Given the description of an element on the screen output the (x, y) to click on. 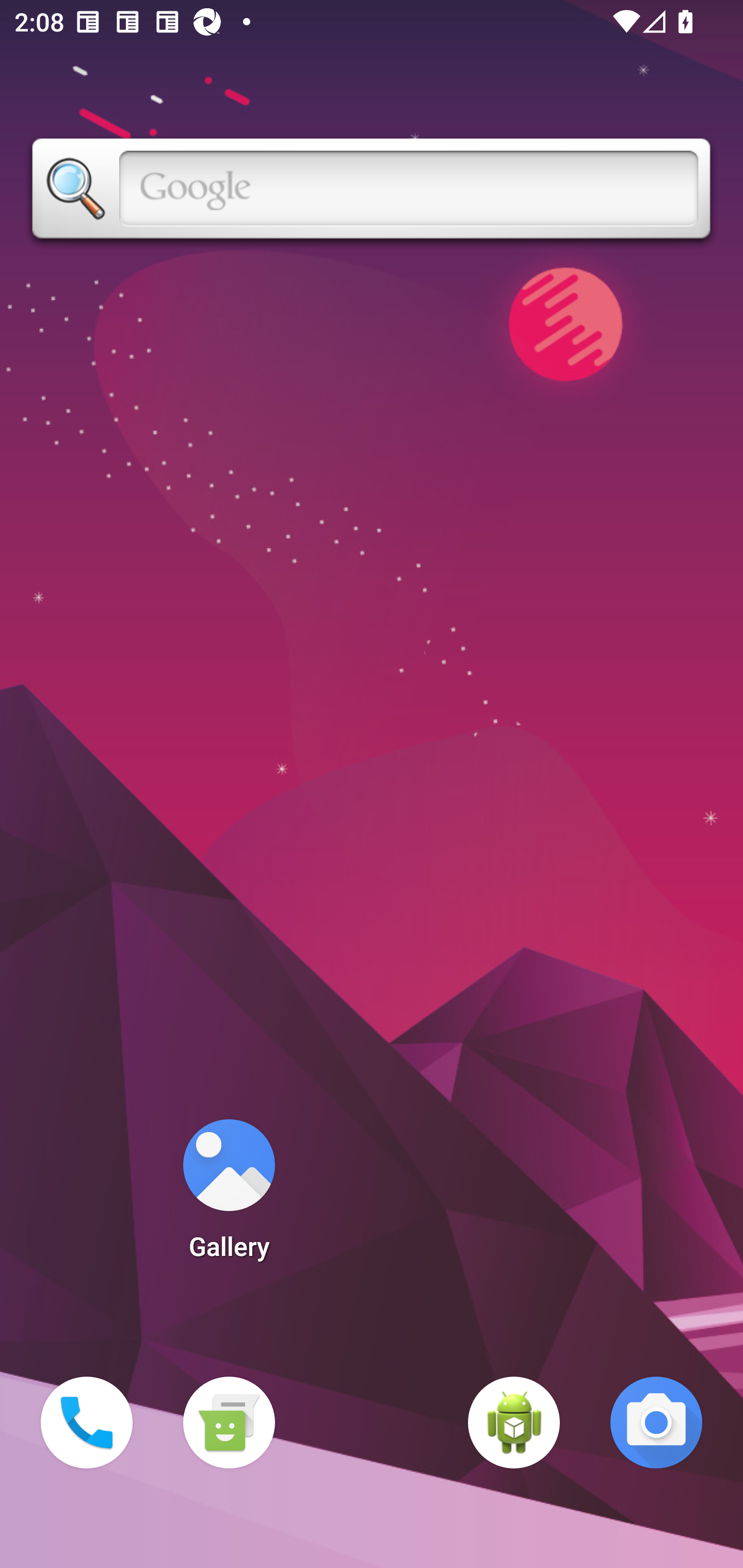
Gallery (228, 1195)
Phone (86, 1422)
Messaging (228, 1422)
WebView Browser Tester (513, 1422)
Camera (656, 1422)
